Given the description of an element on the screen output the (x, y) to click on. 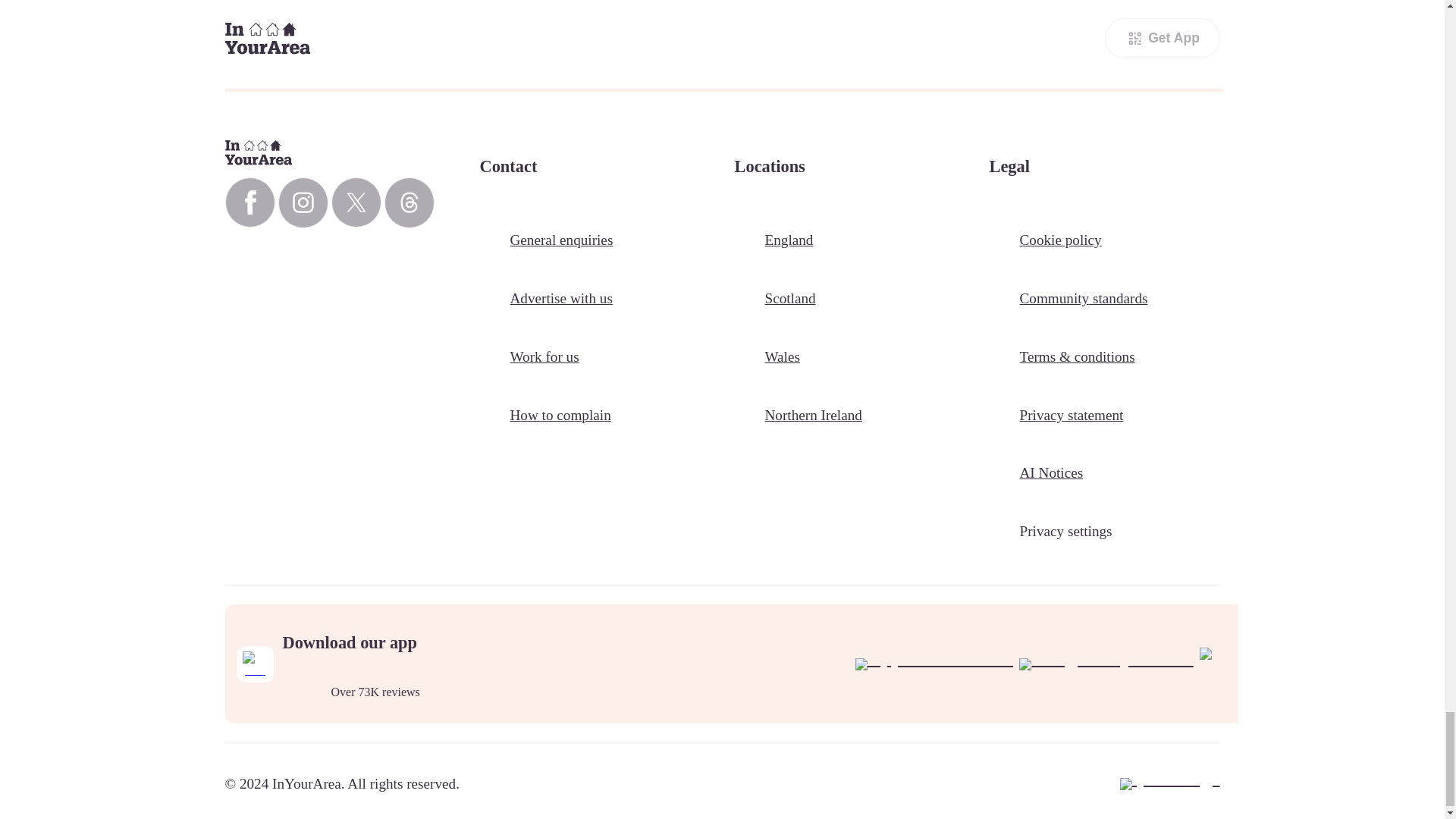
InYourArea Facebook (249, 202)
InYourArea X (355, 202)
InYourArea Instagram (302, 203)
InYourArea Threads (408, 203)
